Given the description of an element on the screen output the (x, y) to click on. 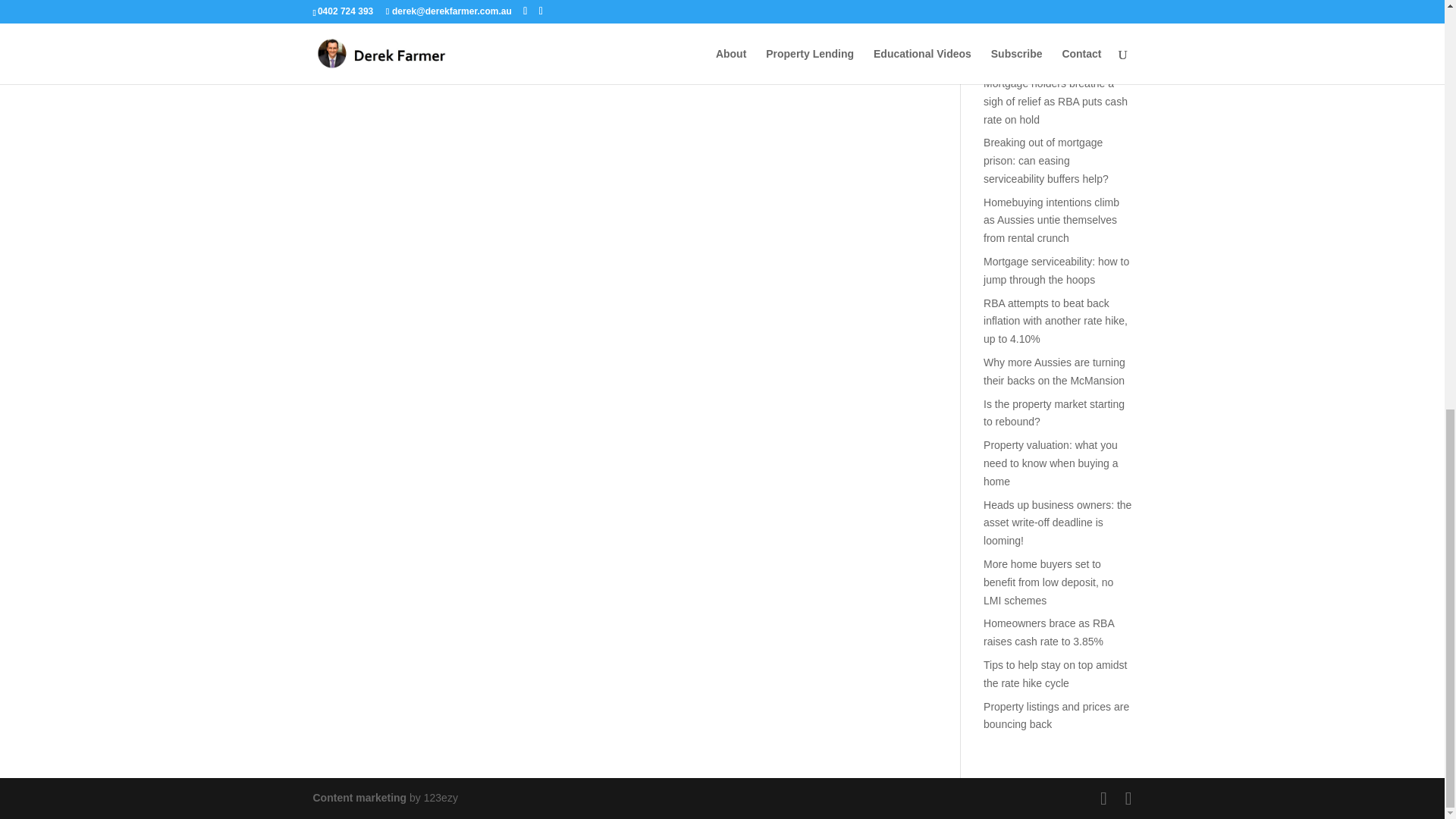
Property valuation: what you need to know when buying a home (1051, 462)
Is the property market starting to rebound? (1054, 413)
Why more Aussies are turning their backs on the McMansion (1054, 371)
Property listings and prices are bouncing back (1056, 716)
Tips to help stay on top amidst the rate hike cycle (1055, 674)
Mortgage serviceability: how to jump through the hoops (1056, 270)
